Given the description of an element on the screen output the (x, y) to click on. 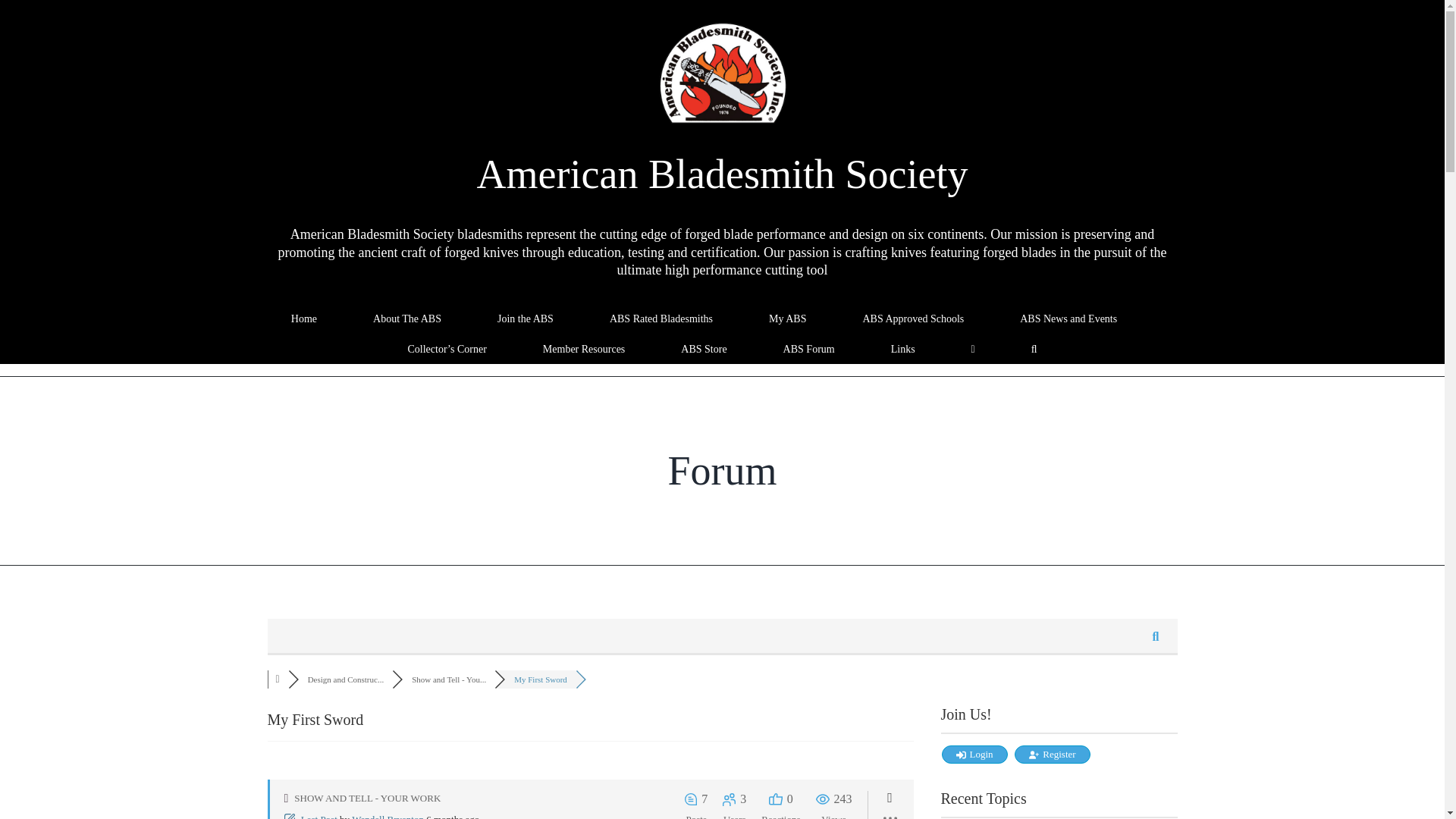
ABS Approved Schools (912, 317)
About The ABS (406, 317)
My ABS (786, 317)
Join the ABS (525, 317)
Home (303, 317)
Show and Tell - Your Work (449, 678)
ABS News and Events (1068, 317)
Wendell Bryenton (387, 816)
Design and Construction (345, 678)
ABS Rated Bladesmiths (660, 317)
